Given the description of an element on the screen output the (x, y) to click on. 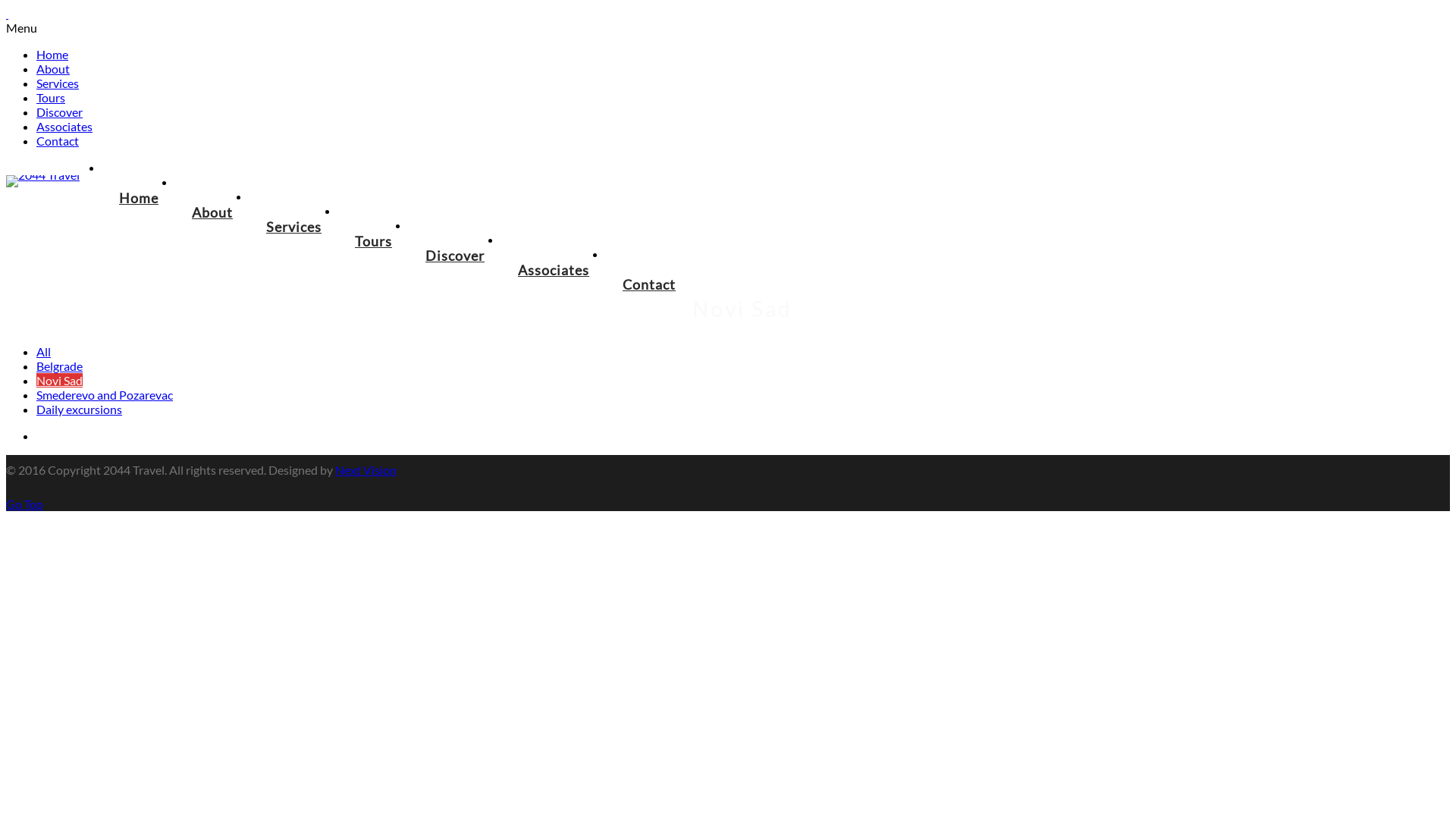
Contact Element type: text (57, 140)
Discover Element type: text (59, 111)
About Element type: text (212, 212)
Novi Sad Element type: text (59, 380)
Tours Element type: text (373, 241)
Go Top Element type: text (24, 503)
Associates Element type: text (64, 126)
Smederevo and Pozarevac Element type: text (104, 394)
Contact Element type: text (648, 284)
Tours Element type: text (50, 97)
  Element type: text (7, 13)
Daily excursions Element type: text (79, 408)
All Element type: text (43, 351)
Home Element type: text (52, 54)
2044 Travel Element type: hover (42, 174)
Discover Element type: text (454, 255)
Home Element type: text (138, 197)
Next Vision Element type: text (365, 469)
About Element type: text (52, 68)
Associates Element type: text (553, 269)
Services Element type: text (57, 82)
Belgrade Element type: text (59, 365)
Services Element type: text (293, 226)
